Given the description of an element on the screen output the (x, y) to click on. 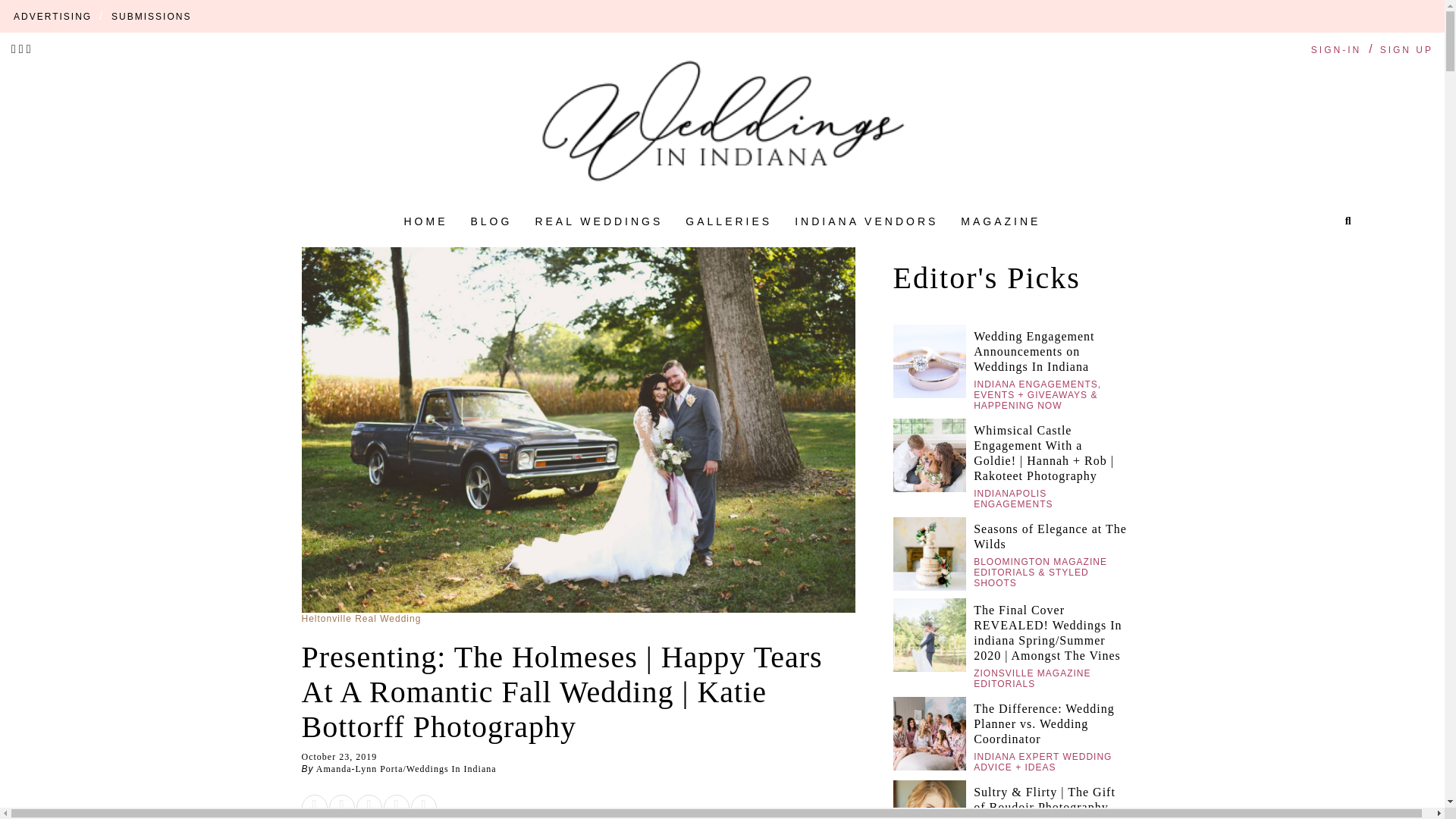
BLOG (491, 221)
MAGAZINE (1000, 221)
ADVERTISING (52, 16)
REAL WEDDINGS (598, 221)
SIGN-IN (1336, 50)
INDIANA VENDORS (865, 221)
Real Wedding (387, 618)
GALLERIES (728, 221)
SUBMISSIONS (151, 16)
Amanda-Lynn Porta (359, 768)
SIGN UP (1406, 49)
HOME (424, 221)
